Given the description of an element on the screen output the (x, y) to click on. 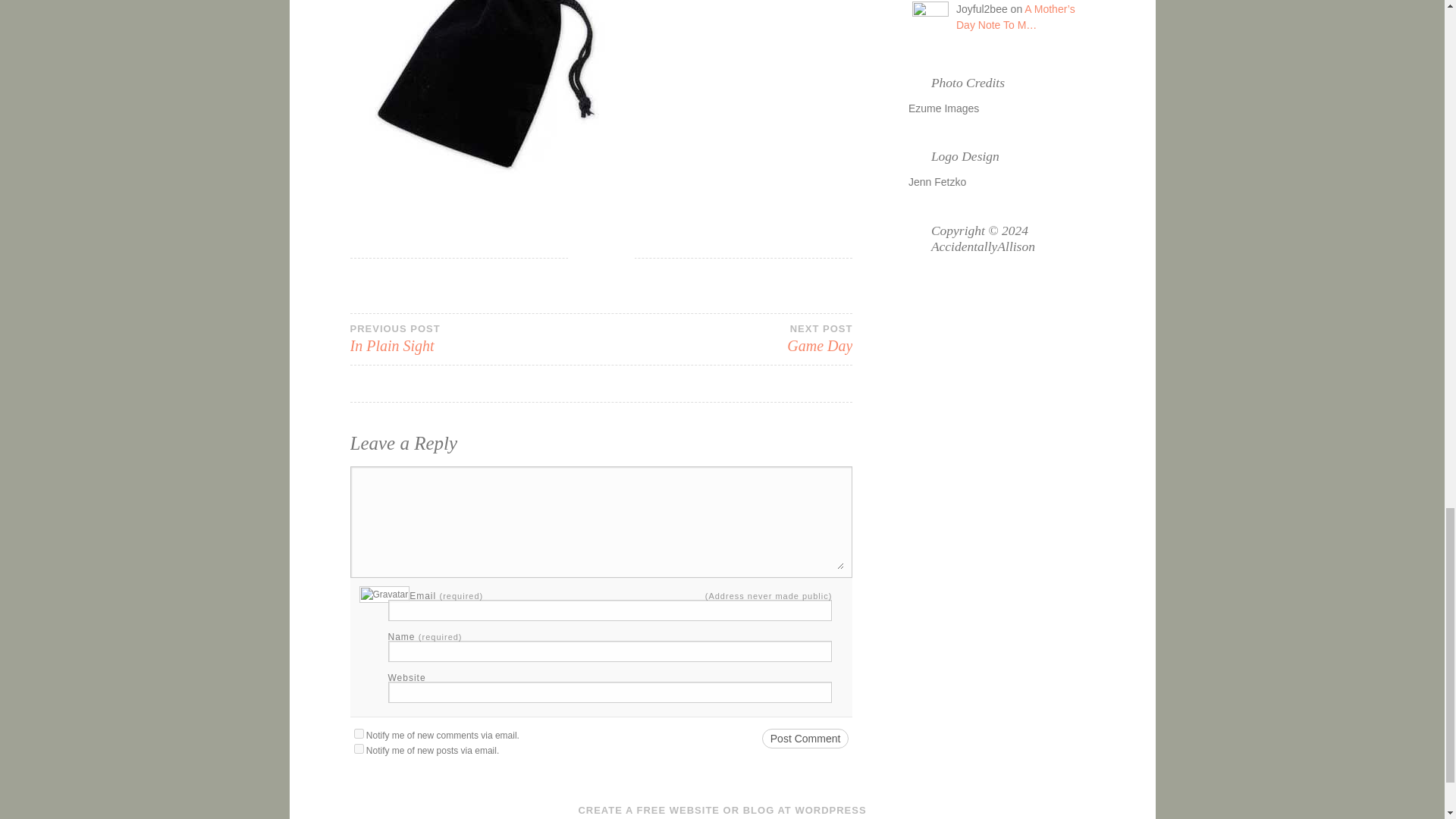
Enter your comment here... (601, 522)
subscribe (357, 733)
Post Comment (475, 337)
Post Comment (726, 337)
subscribe (804, 738)
